Given the description of an element on the screen output the (x, y) to click on. 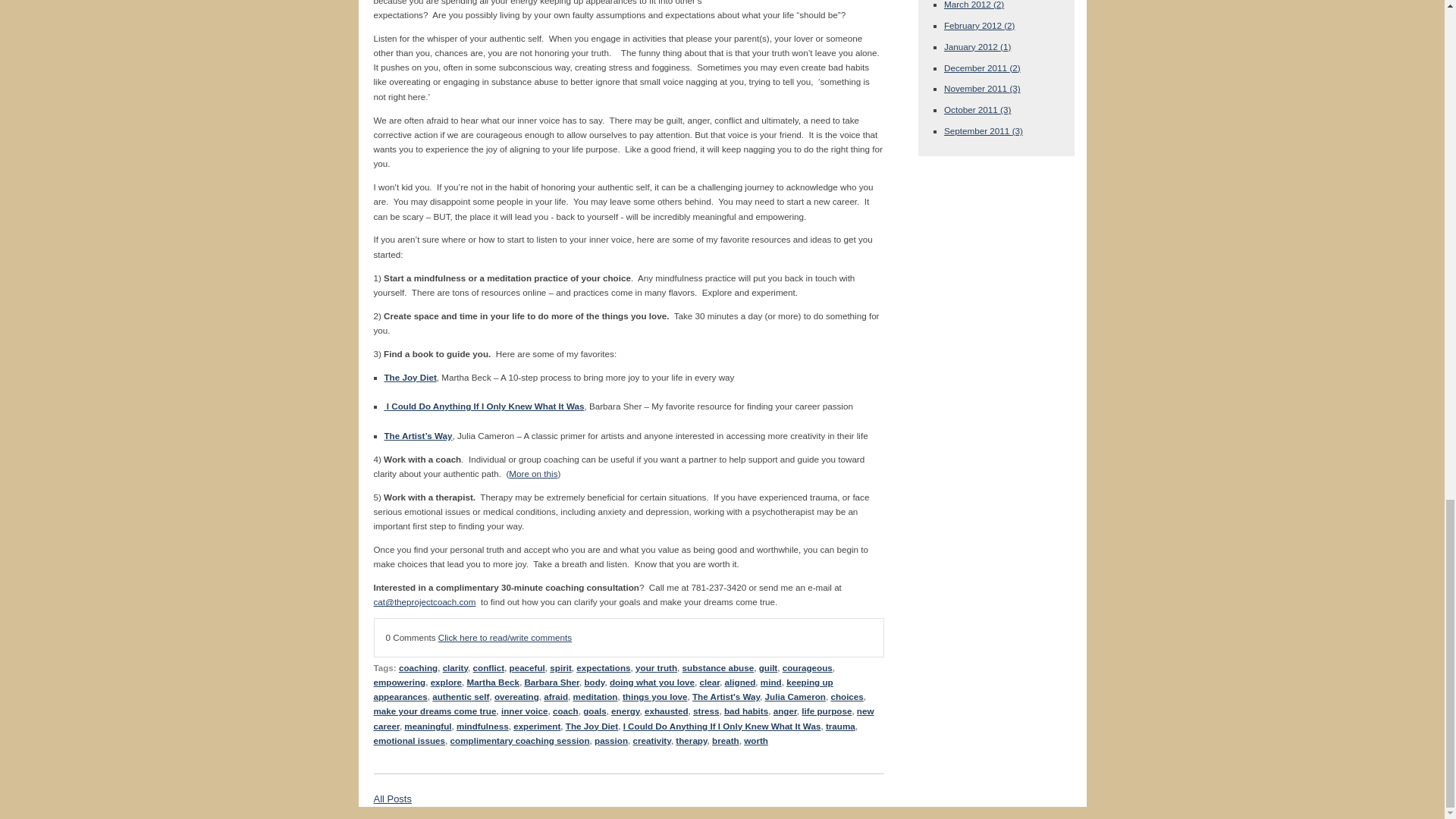
More on this (532, 473)
The Joy Diet (409, 377)
  I Could Do Anything If I only Knew What It Was (483, 406)
